Given the description of an element on the screen output the (x, y) to click on. 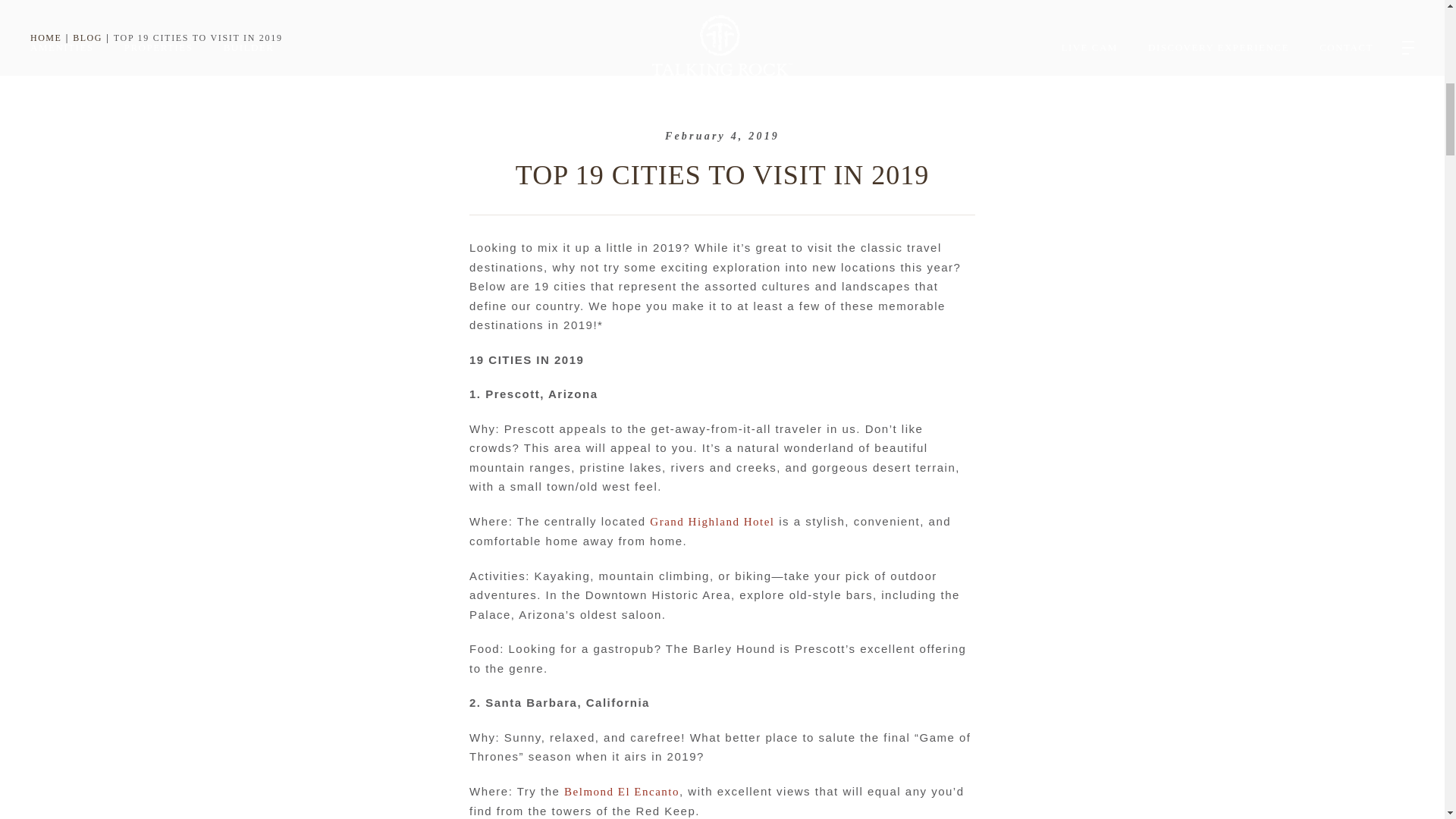
HOME (45, 37)
BLOG (86, 37)
Belmond El Encanto (621, 791)
Grand Highland Hotel (711, 521)
